Given the description of an element on the screen output the (x, y) to click on. 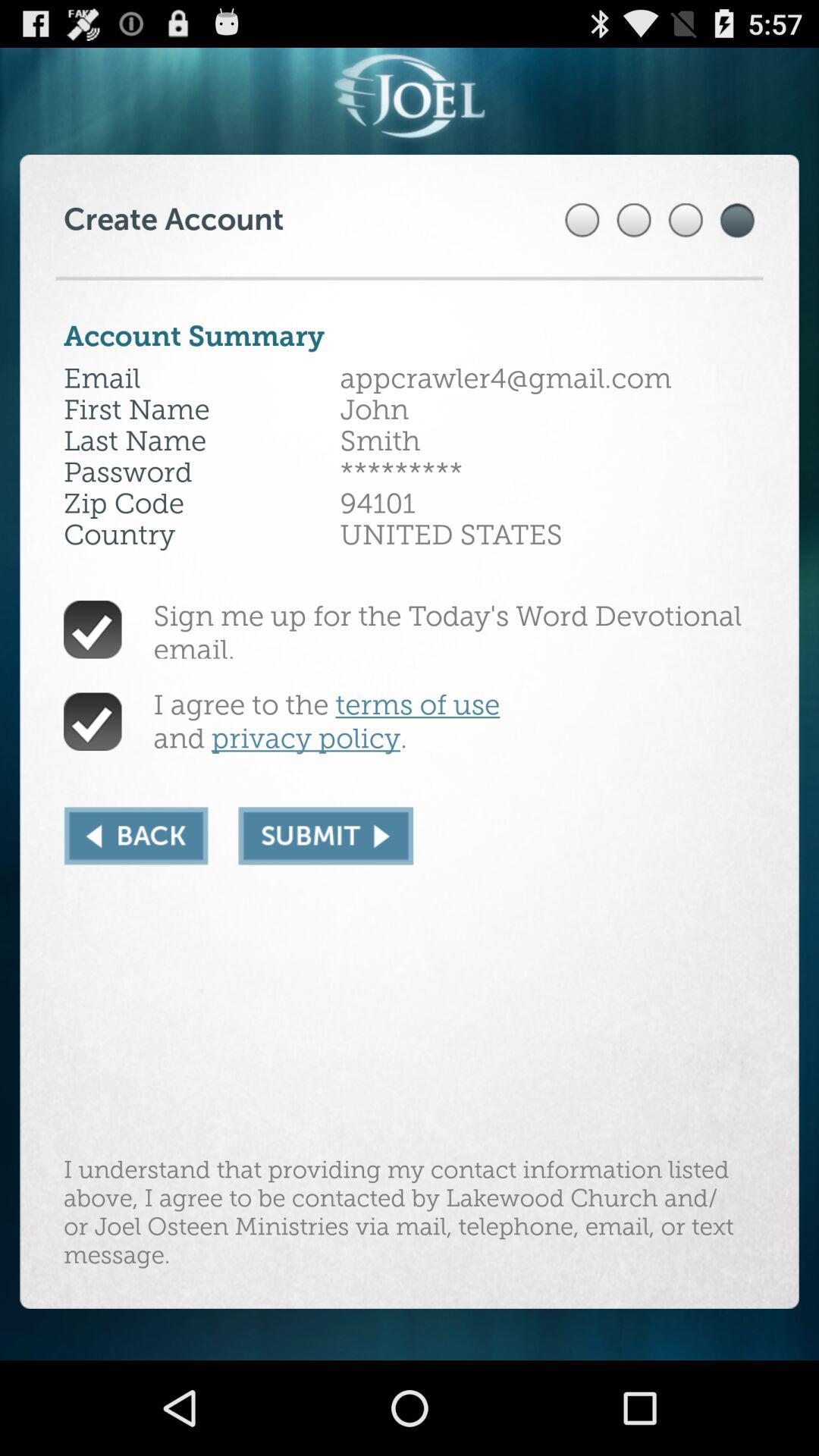
click icon below i agree to app (325, 836)
